Given the description of an element on the screen output the (x, y) to click on. 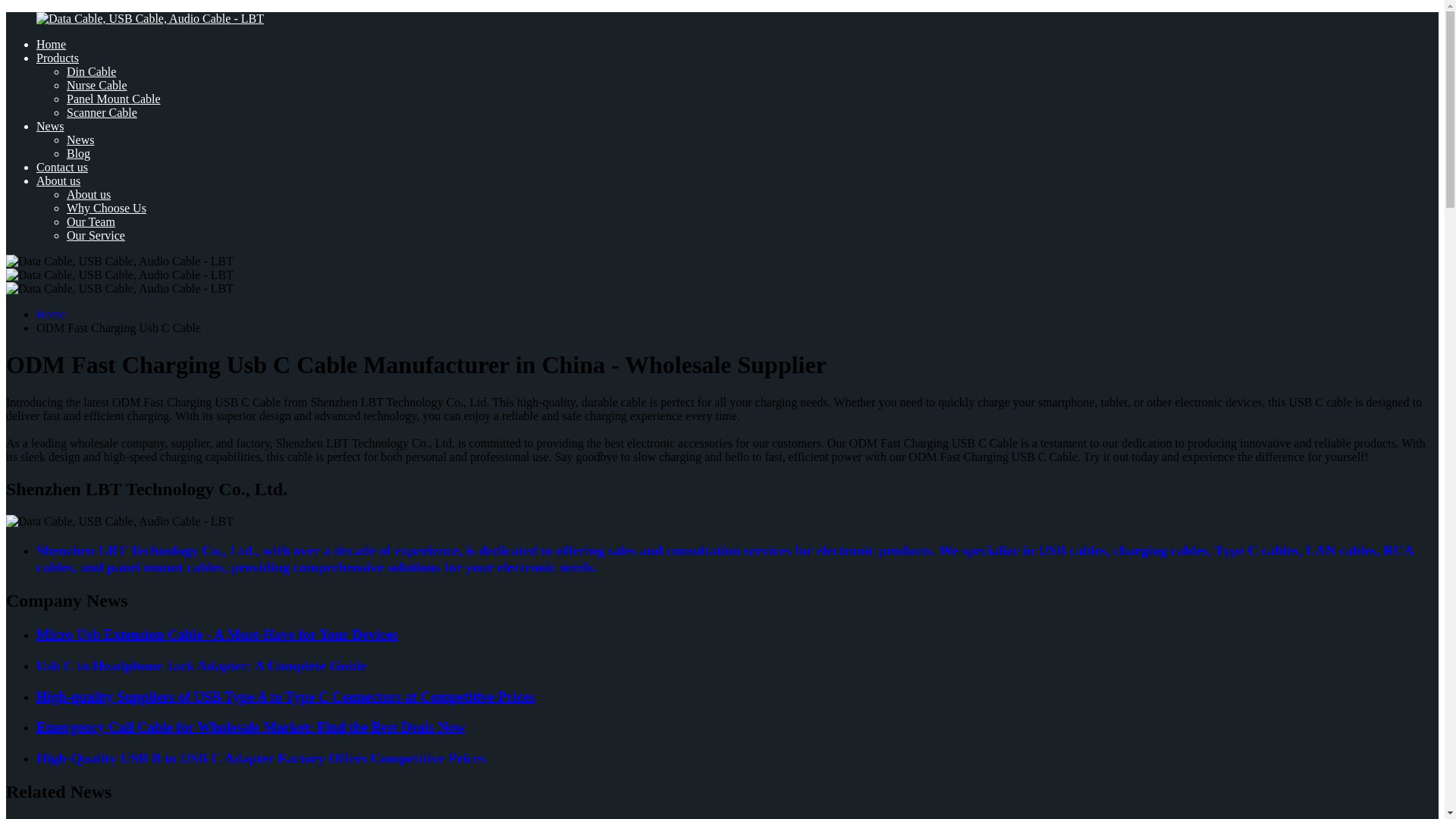
Home (50, 314)
Blog (78, 153)
Nurse Cable (97, 84)
News (50, 125)
Scanner Cable (101, 112)
Our Team (90, 221)
Products (57, 57)
About us (58, 180)
News (80, 139)
Panel Mount Cable (113, 98)
Din Cable (91, 71)
Home (50, 43)
Contact us (61, 166)
Our Service (95, 235)
Why Choose Us (106, 207)
